Given the description of an element on the screen output the (x, y) to click on. 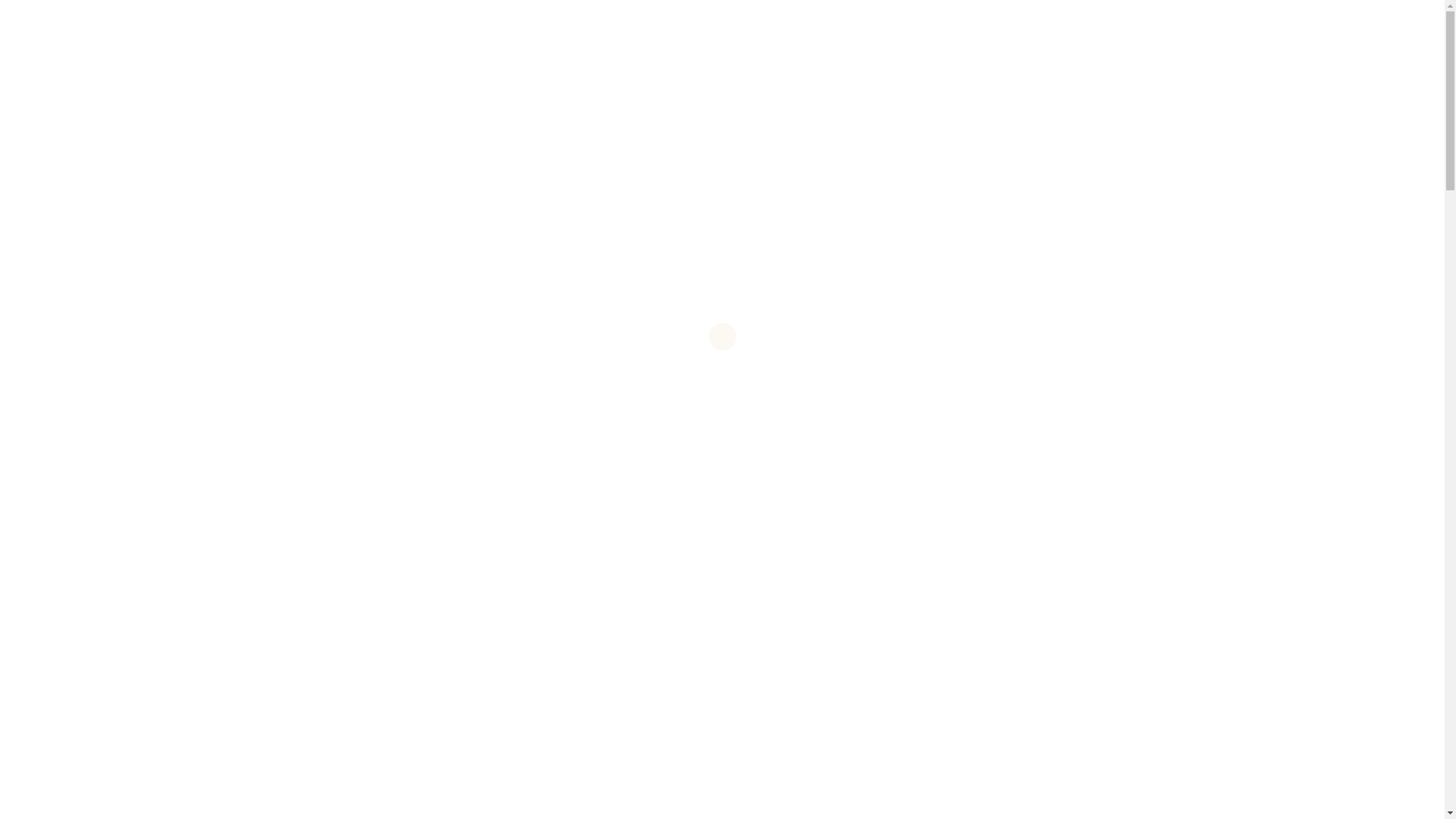
PRICE LIST Element type: text (78, 142)
GALLERY Element type: text (73, 159)
TRADING HOURS Element type: text (93, 176)
HOME Element type: text (65, 92)
SERVICES Element type: text (76, 126)
ABOUT Element type: text (67, 109)
CONTACT Element type: text (74, 193)
